Given the description of an element on the screen output the (x, y) to click on. 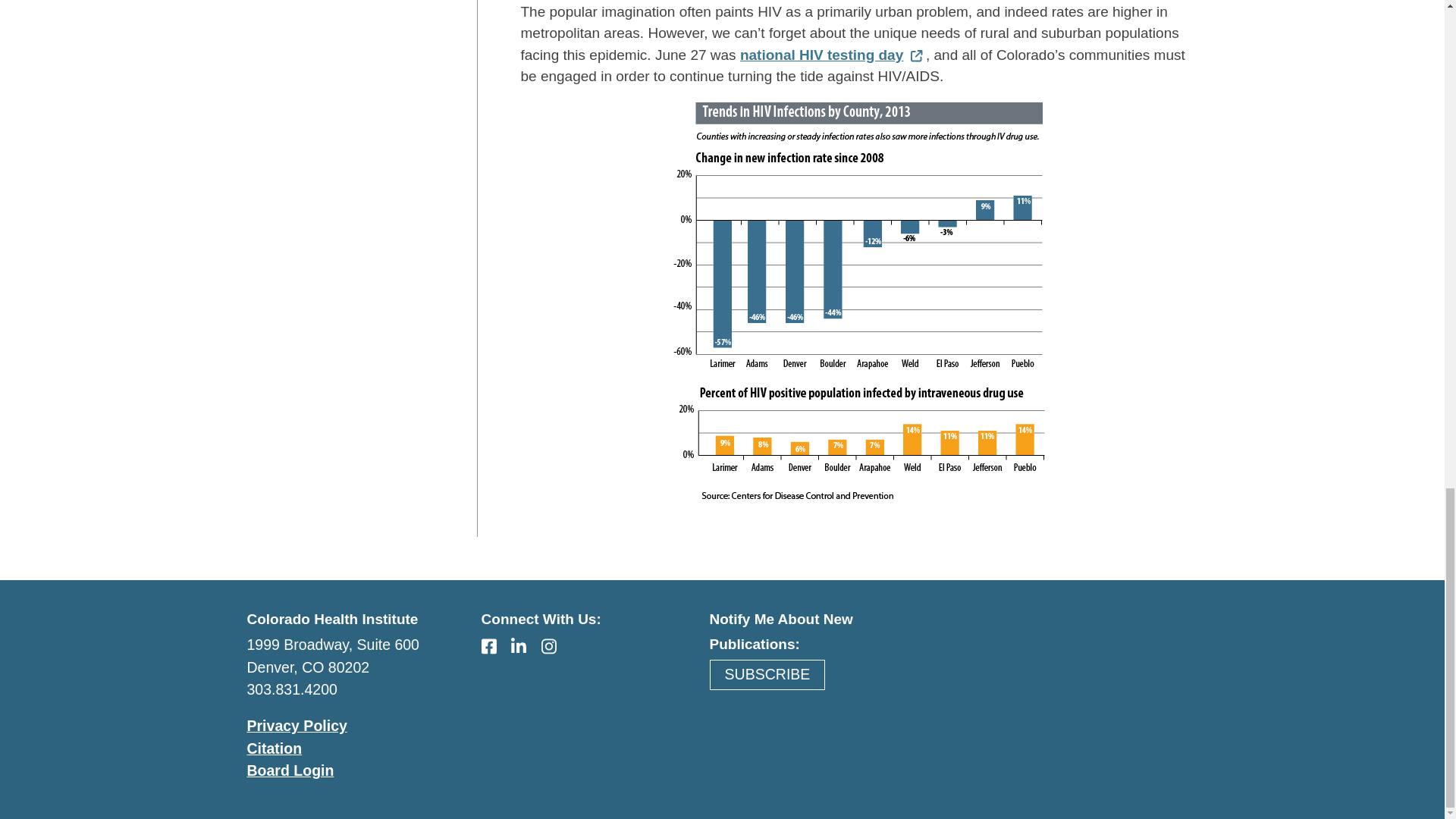
Visit Colorado Health Institute on Facebook (496, 646)
Citation (274, 748)
Privacy Policy (297, 725)
Board Login (290, 770)
national HIV testing day (832, 54)
